Given the description of an element on the screen output the (x, y) to click on. 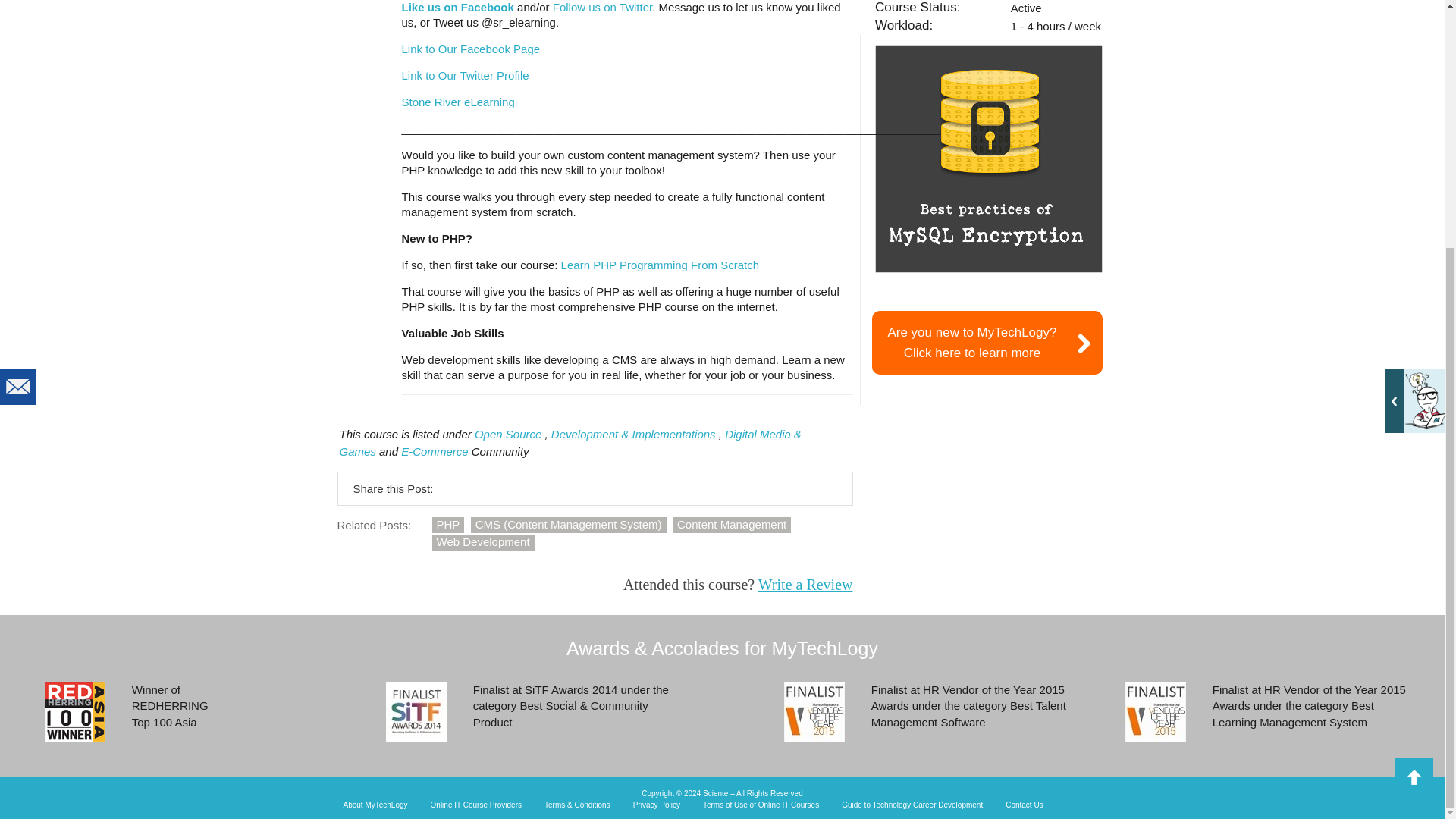
Learn PHP Programming From Scratch (659, 264)
Like us on Facebook (457, 6)
About MyTechLogy (374, 805)
Contact Us (1024, 805)
Guide to Technology Career Development (911, 805)
Privacy Policy (656, 805)
Terms of Use of Online IT Courses (760, 805)
Online IT Course Providers (475, 805)
Winner of REDHERRING Top 100 Asia (74, 711)
Open Source (507, 433)
